Given the description of an element on the screen output the (x, y) to click on. 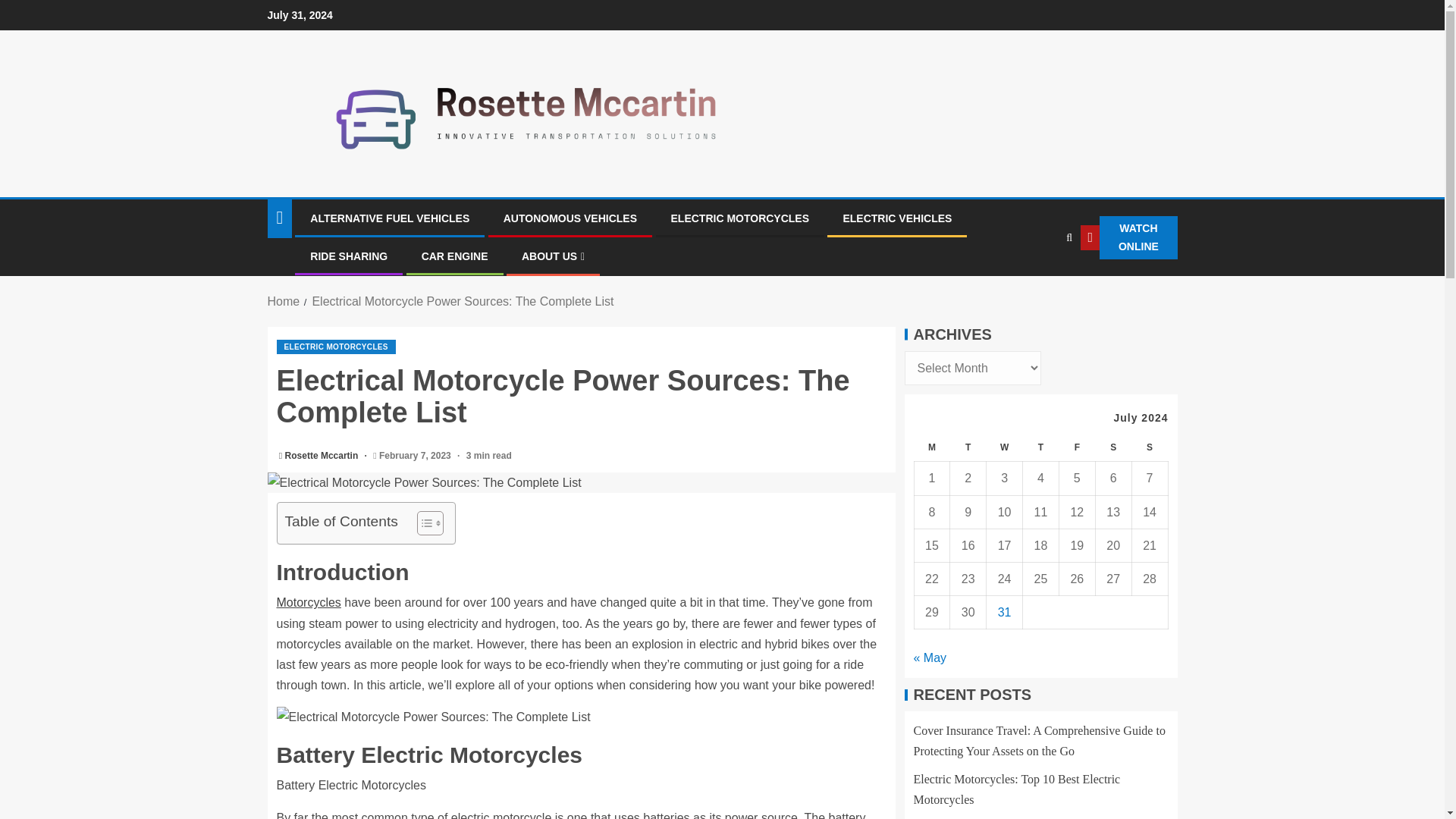
AUTONOMOUS VEHICLES (570, 218)
WATCH ONLINE (1128, 238)
ELECTRIC MOTORCYCLES (739, 218)
Motorcycles (308, 602)
Home (282, 300)
ABOUT US (553, 256)
Monday (932, 447)
Electrical Motorcycle Power Sources: The Complete List (432, 716)
Electrical Motorcycle Power Sources: The Complete List (580, 482)
ELECTRIC VEHICLES (897, 218)
Search (1037, 284)
Rosette Mccartin (323, 455)
ALTERNATIVE FUEL VEHICLES (389, 218)
CAR ENGINE (454, 256)
Electrical Motorcycle Power Sources: The Complete List (461, 300)
